Given the description of an element on the screen output the (x, y) to click on. 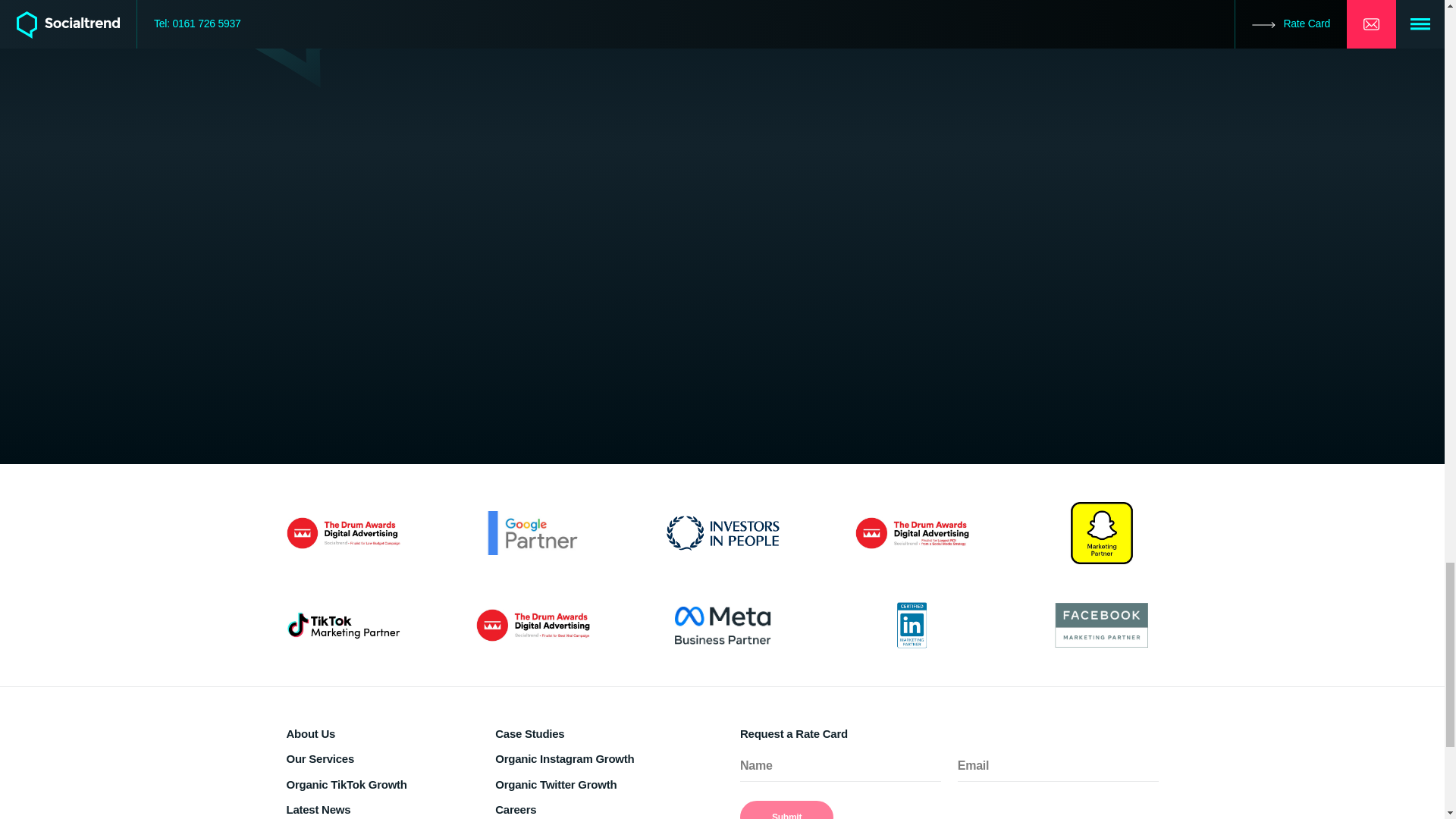
Submit (785, 809)
